Given the description of an element on the screen output the (x, y) to click on. 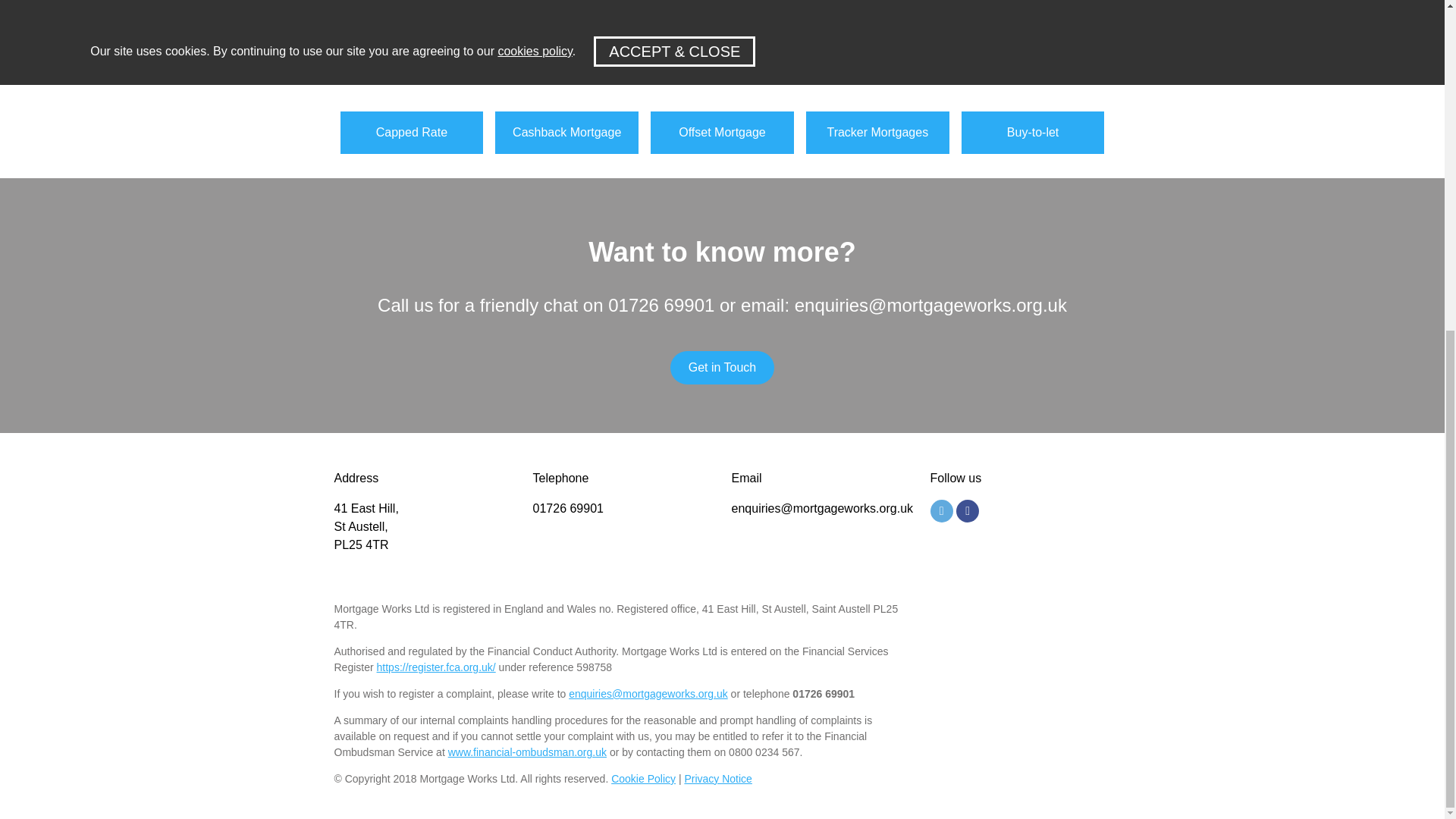
Cashback Mortgage (567, 55)
Buy-to-let (1032, 55)
  Capped Rate (411, 76)
Tracker Mortgages (877, 55)
Offset Mortgage (721, 55)
  Tracker Mortgages (877, 76)
Capped Rate (411, 55)
  Cashback Mortgage (567, 76)
  Offset Mortgage (721, 76)
